Given the description of an element on the screen output the (x, y) to click on. 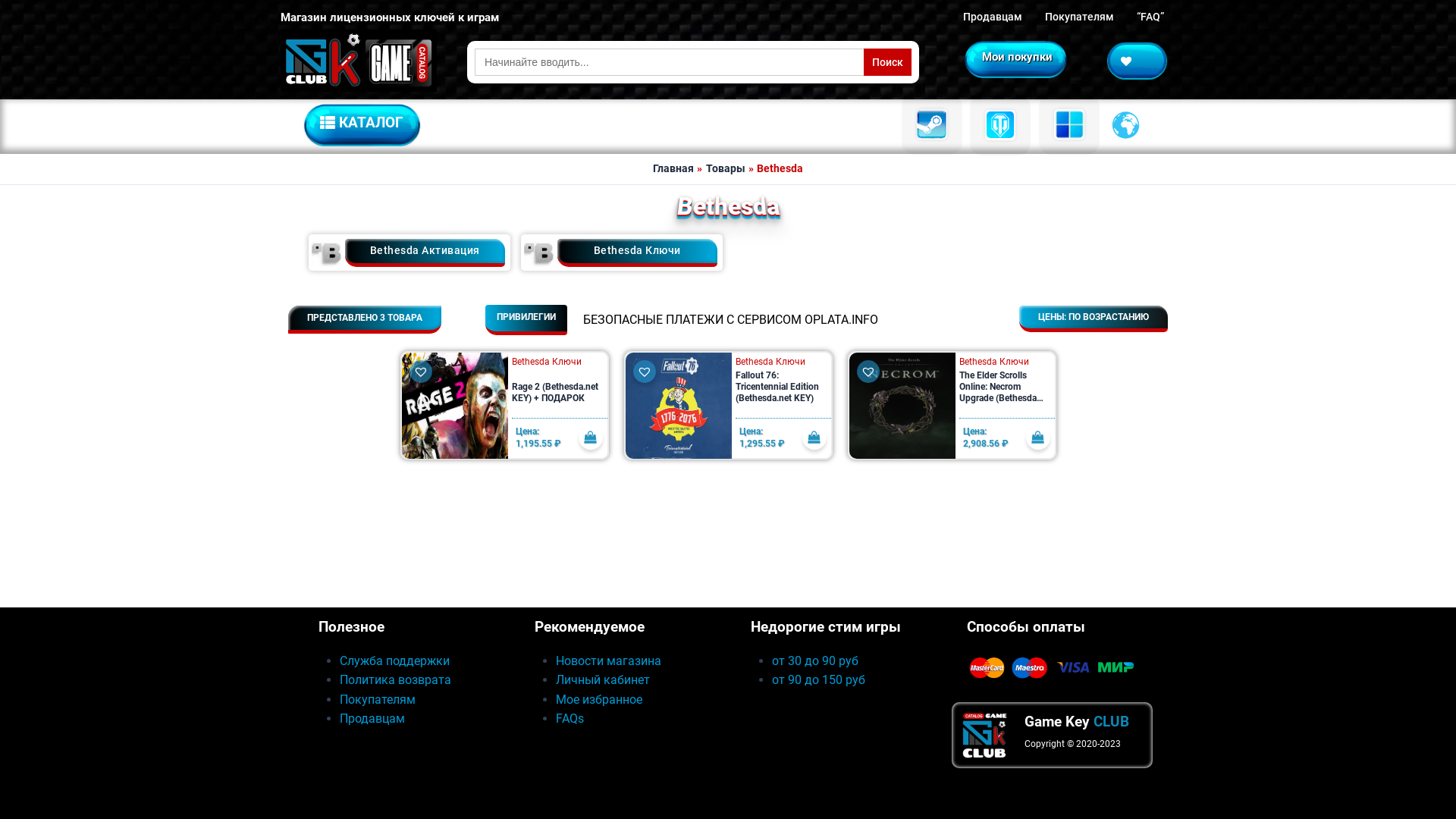
GameKey.CLUB Element type: hover (358, 60)
LiveInternet Element type: hover (359, 776)
The Elder Scrolls Online: Necrom Upgrade (Bethesda KEY) Element type: text (1006, 394)
FAQs Element type: text (569, 718)
Fallout 76: Tricentennial Edition (Bethesda.net KEY) Element type: text (783, 394)
